Given the description of an element on the screen output the (x, y) to click on. 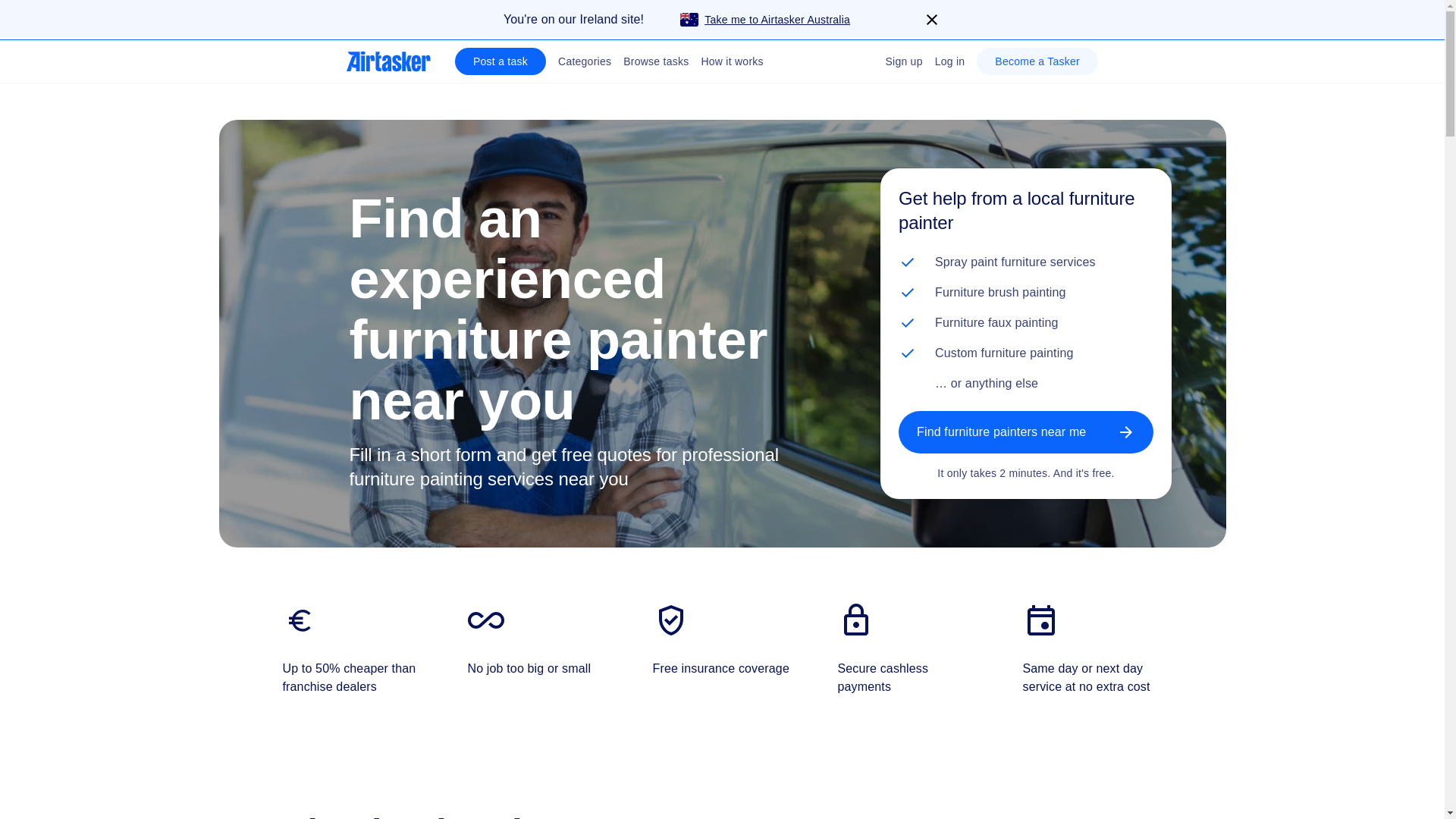
Take me to Airtasker Australia (746, 19)
Categories (584, 61)
Post a task (500, 61)
